Given the description of an element on the screen output the (x, y) to click on. 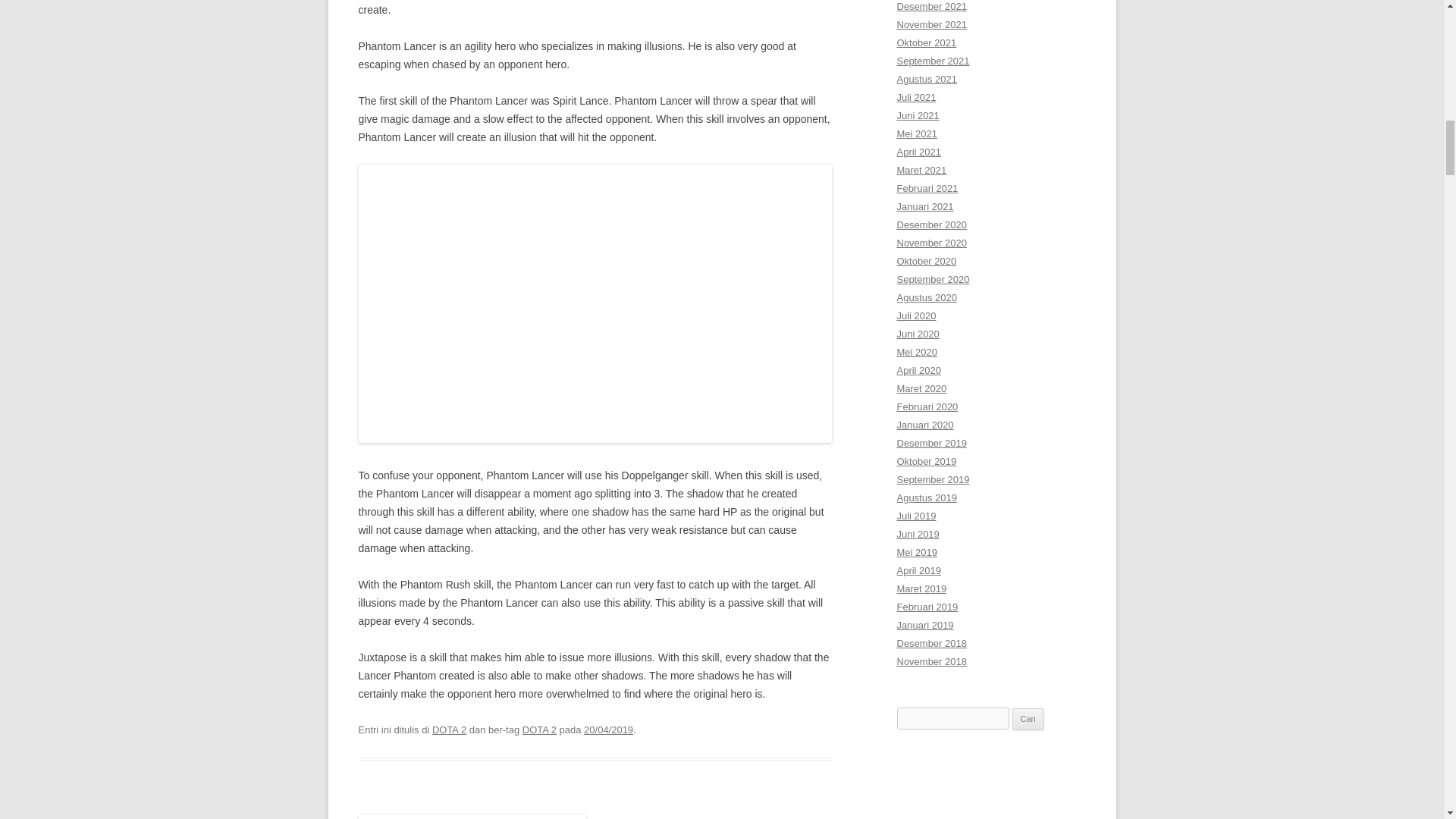
14:20 (608, 729)
DOTA 2 (539, 729)
Cari (1027, 719)
DOTA 2 (448, 729)
